Given the description of an element on the screen output the (x, y) to click on. 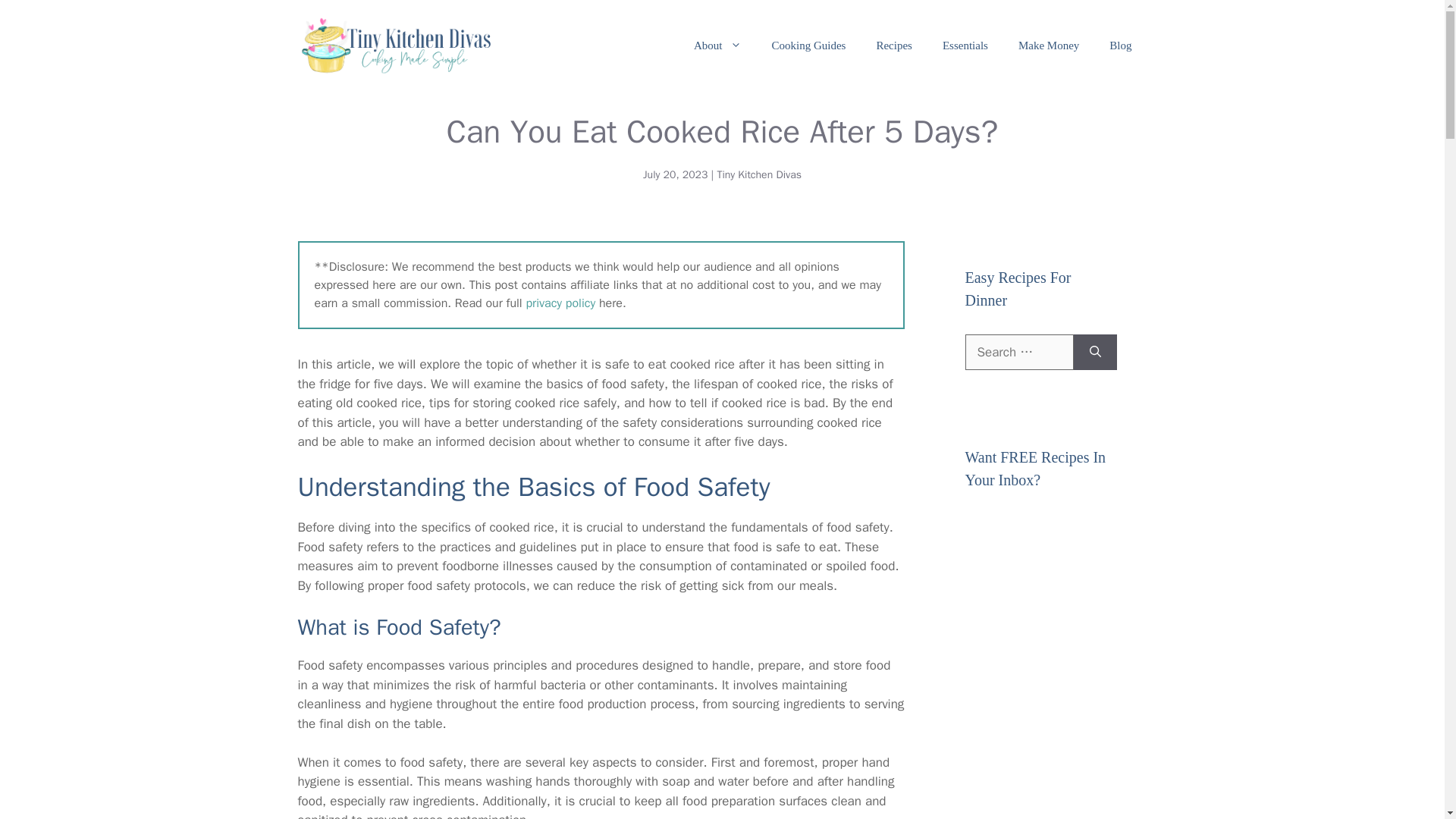
View all posts by Tiny Kitchen Divas (759, 174)
Recipes (893, 44)
About (717, 44)
Make Money (1048, 44)
Search for: (1018, 352)
Blog (1120, 44)
Tiny Kitchen Divas (759, 174)
Essentials (965, 44)
Cooking Guides (809, 44)
privacy policy (560, 303)
